Given the description of an element on the screen output the (x, y) to click on. 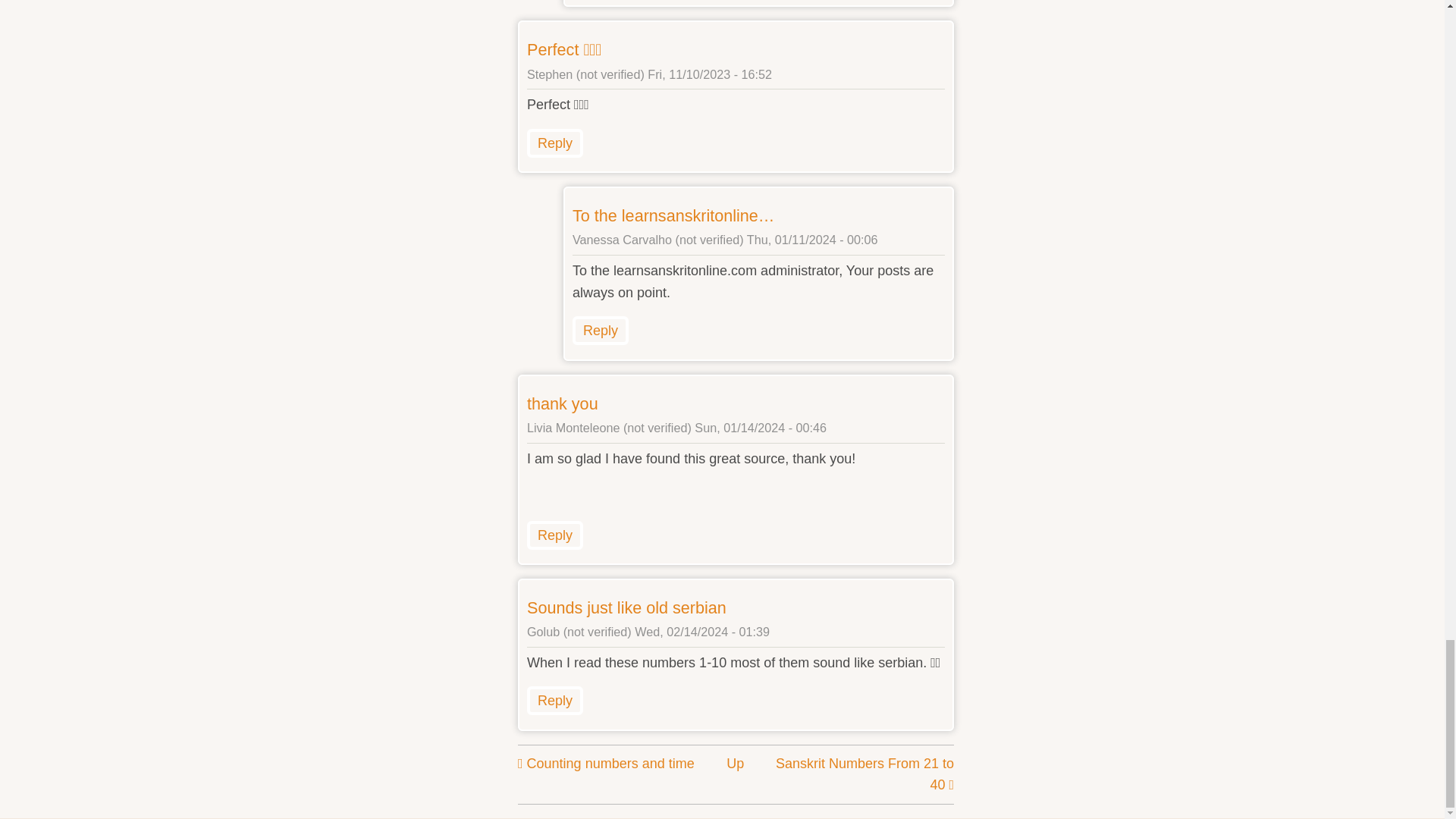
Go to previous page (606, 763)
Go to next page (864, 774)
Go to parent page (735, 763)
